Given the description of an element on the screen output the (x, y) to click on. 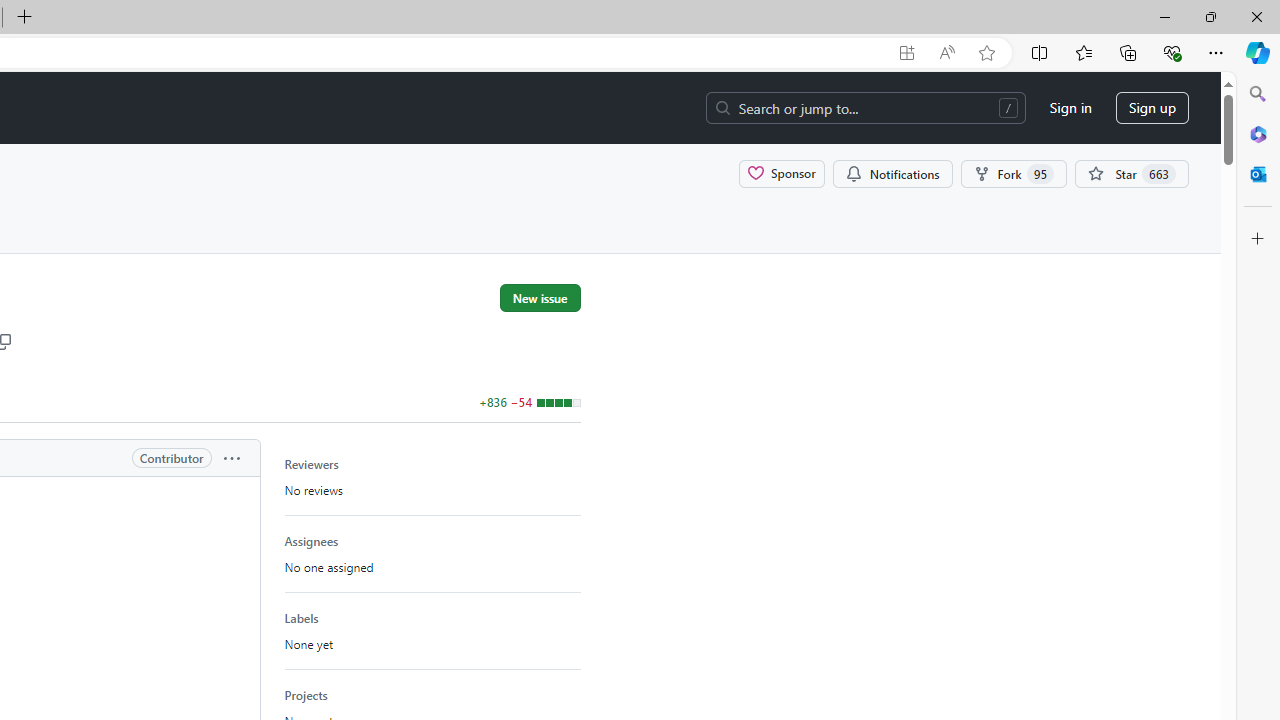
Sponsor MajkiIT/polish-ads-filter (781, 173)
You must be signed in to star a repository (1132, 173)
New issue (540, 297)
Show options (231, 457)
Sign up (1152, 107)
Fork 95 (1013, 173)
 Star 663 (1132, 173)
